Given the description of an element on the screen output the (x, y) to click on. 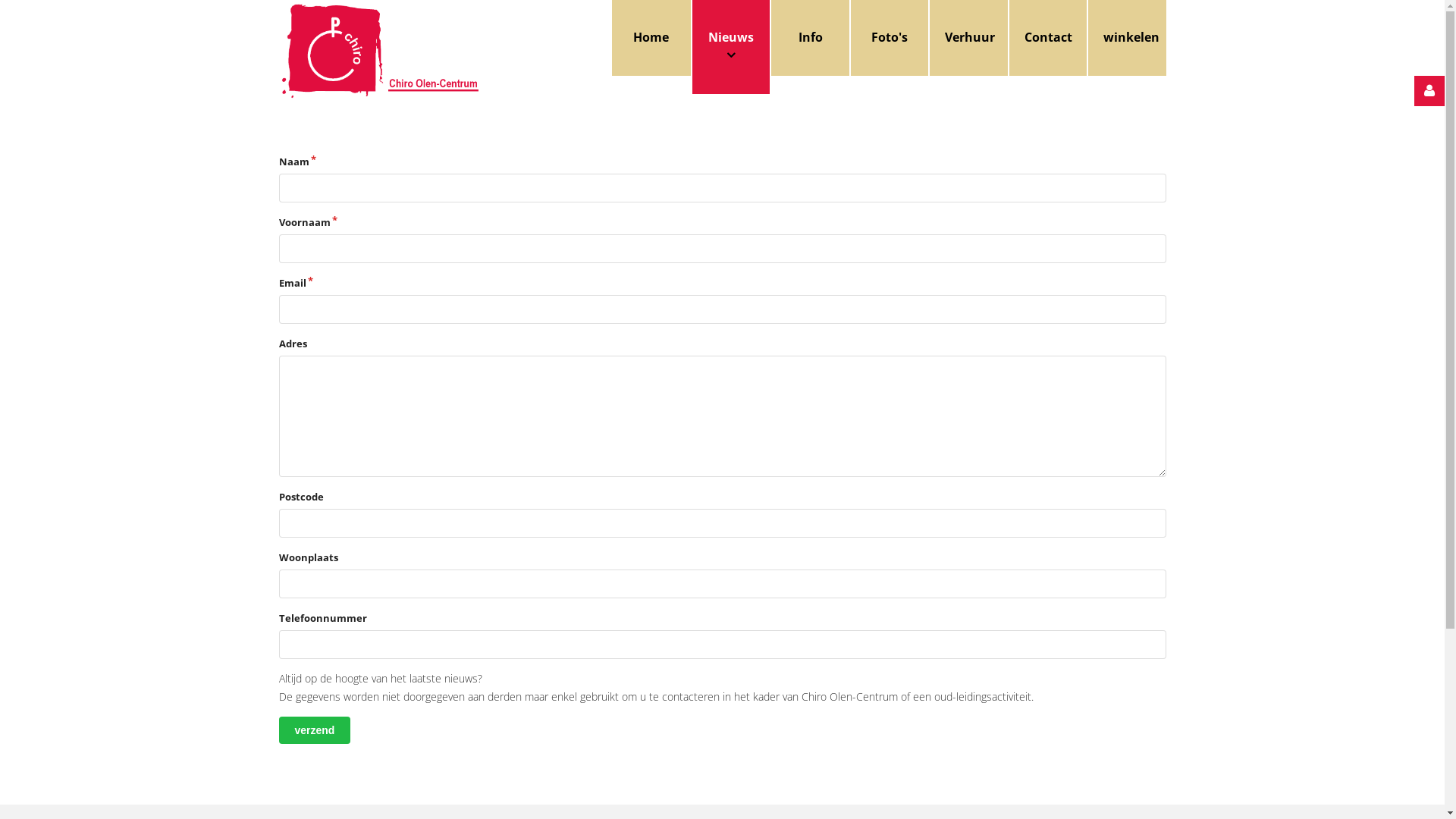
Contact Element type: text (1047, 37)
Verhuur Element type: text (968, 37)
Foto's Element type: text (889, 37)
Home Element type: text (650, 37)
verzend Element type: text (315, 729)
winkelen Element type: text (1126, 37)
Info Element type: text (809, 37)
Nieuws Element type: text (730, 47)
